Given the description of an element on the screen output the (x, y) to click on. 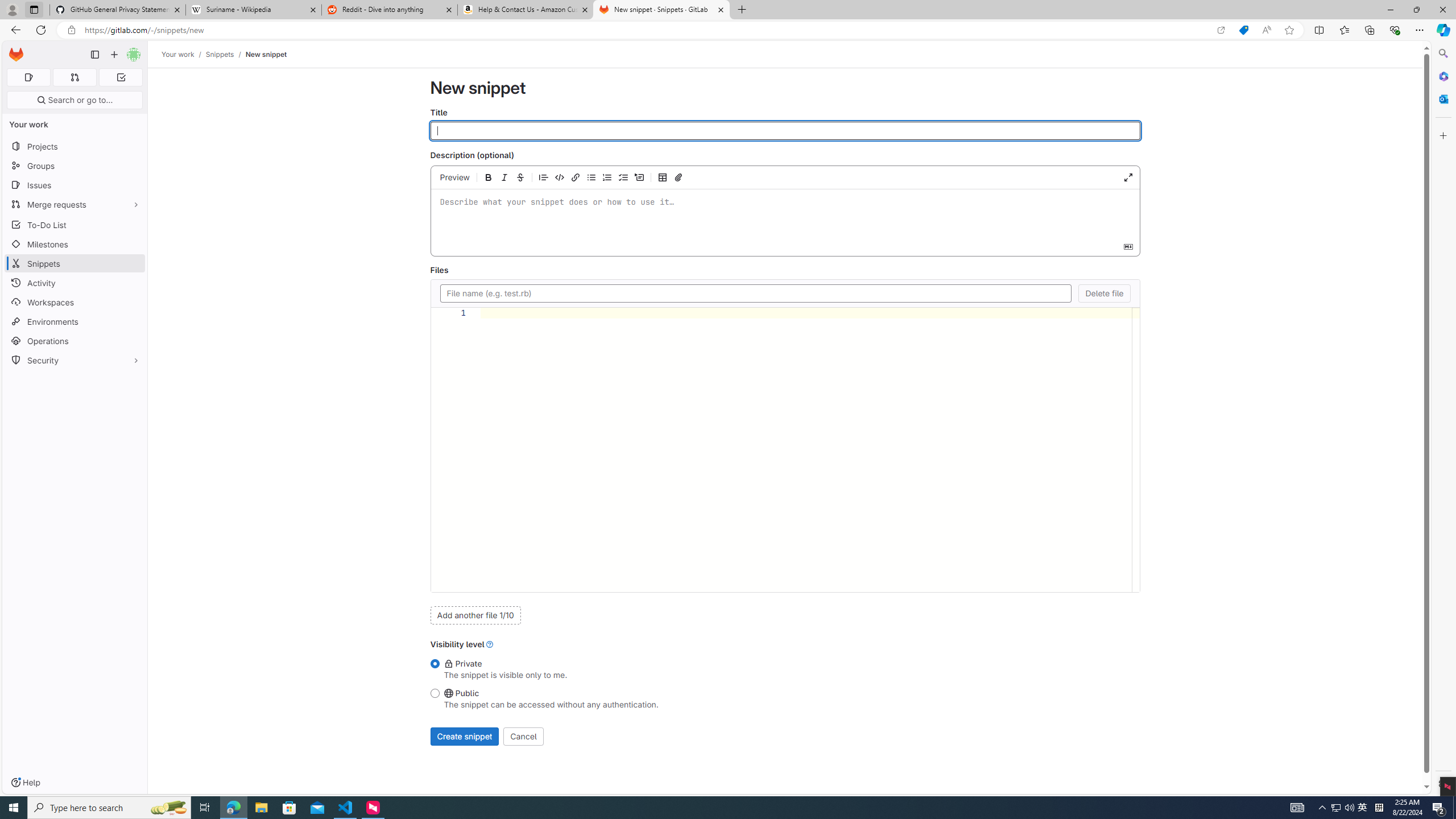
Snippets (74, 262)
Add a table (662, 177)
Private The snippet is visible only to me. (434, 664)
Class: div-dropzone-icon s24 (783, 214)
Description (784, 213)
GitHub General Privacy Statement - GitHub Docs (117, 9)
Create snippet (464, 736)
